Given the description of an element on the screen output the (x, y) to click on. 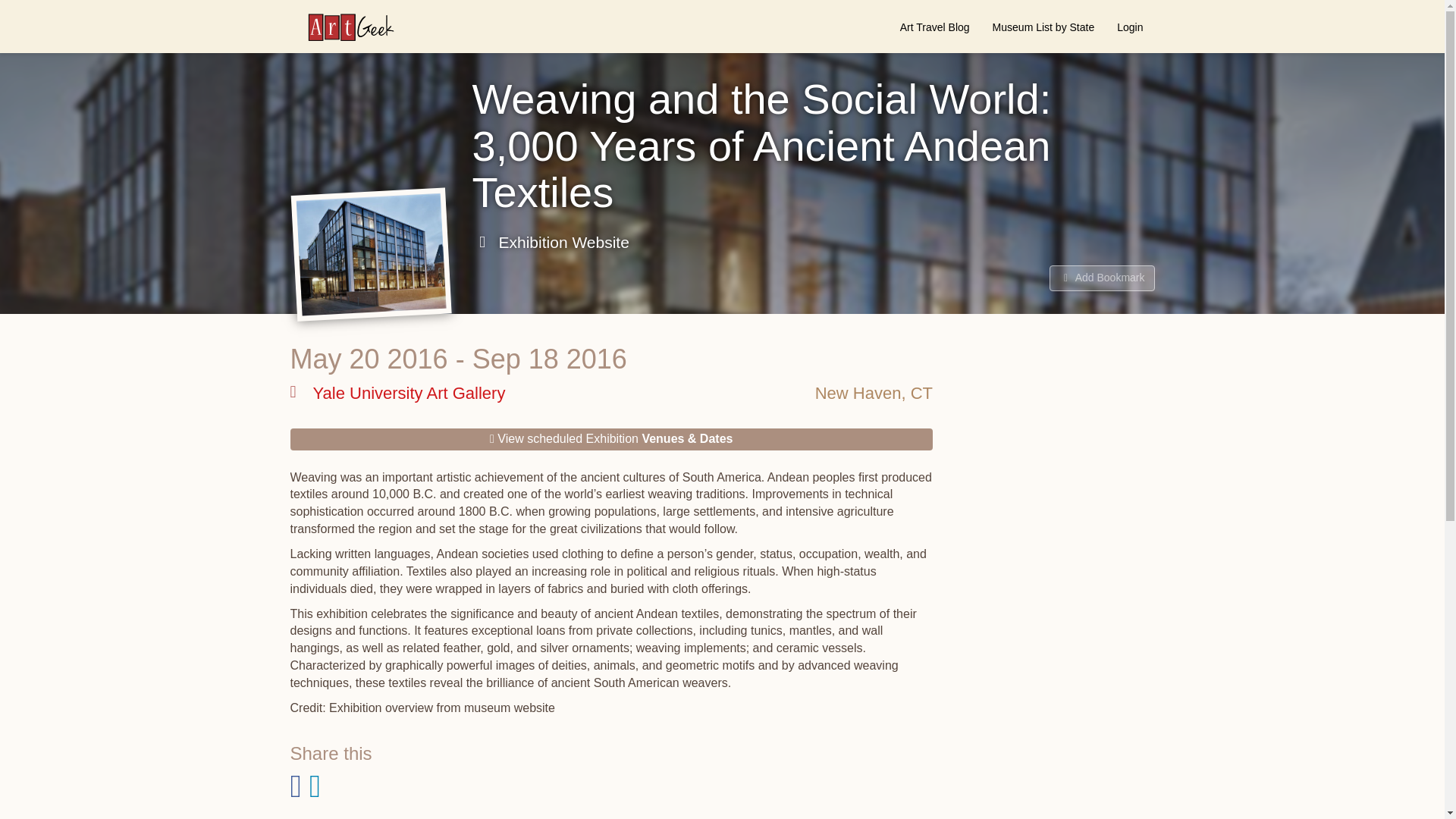
Art Travel Blog (934, 26)
Yale University Art Gallery (397, 392)
Login (1129, 26)
Add Bookmark (1101, 278)
Exhibition Website (549, 241)
Museum List by State (1043, 26)
ArtGeek (343, 26)
